Given the description of an element on the screen output the (x, y) to click on. 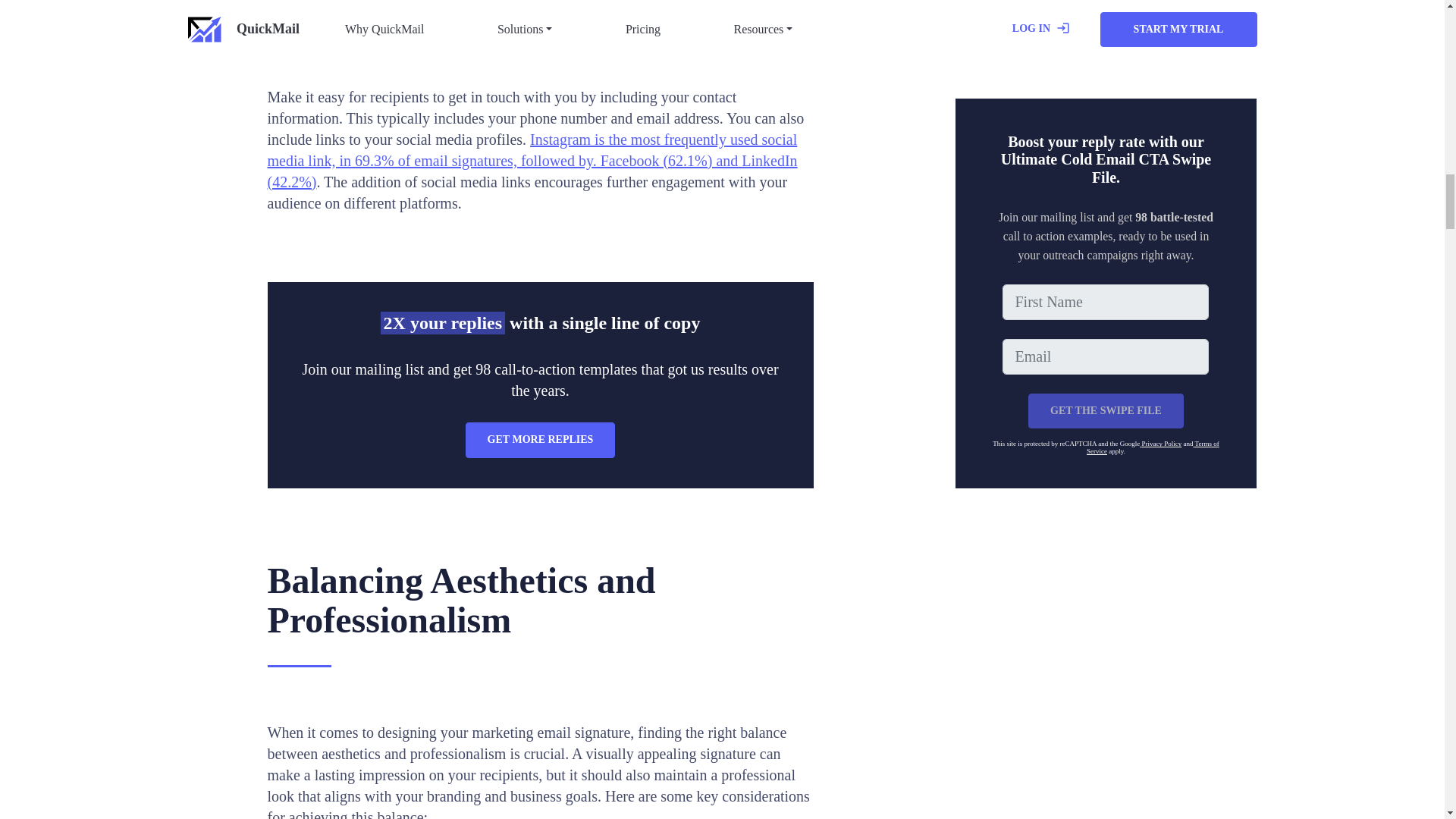
GET MORE REPLIES (540, 439)
